Given the description of an element on the screen output the (x, y) to click on. 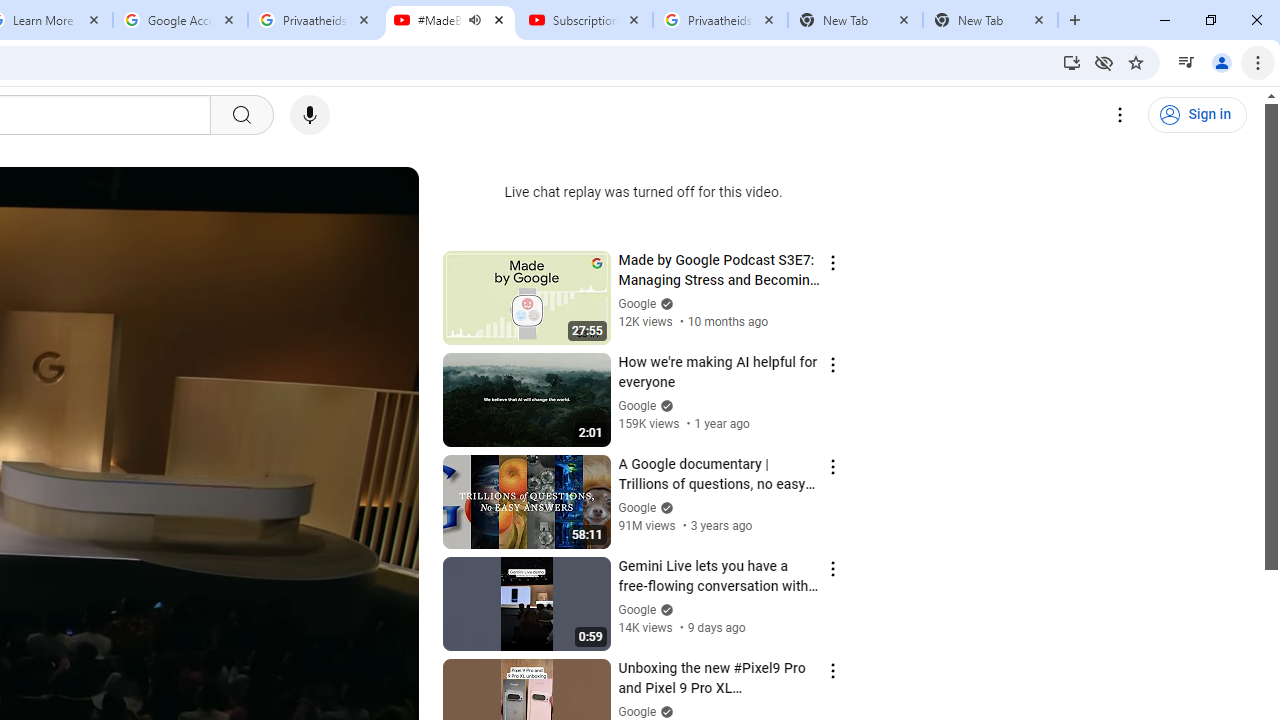
Control your music, videos, and more (1185, 62)
Third-party cookies blocked (1103, 62)
Subscriptions - YouTube (585, 20)
Google Account (180, 20)
New Tab (990, 20)
Sign in (1197, 115)
